Given the description of an element on the screen output the (x, y) to click on. 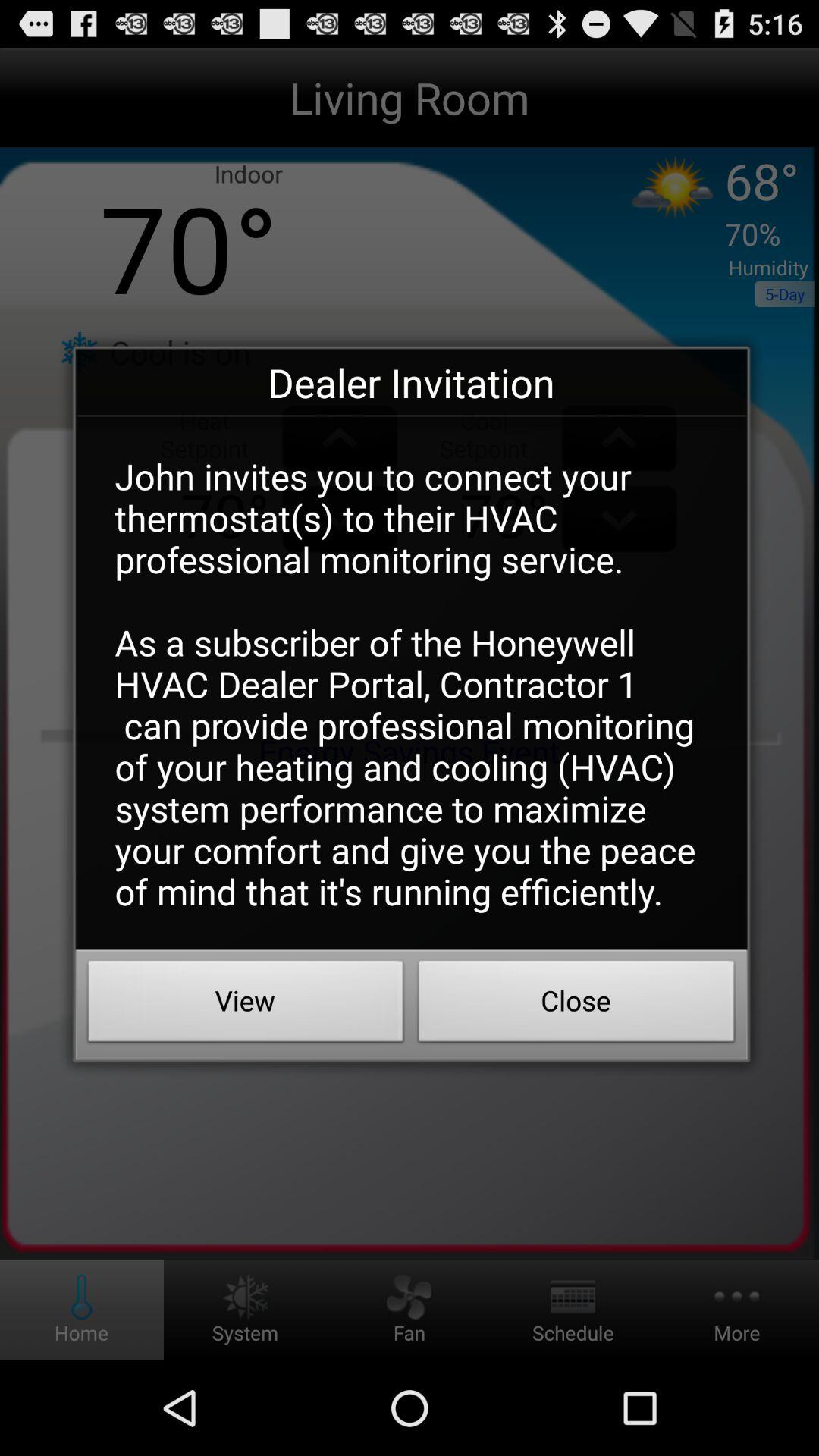
launch close at the bottom right corner (576, 1005)
